Given the description of an element on the screen output the (x, y) to click on. 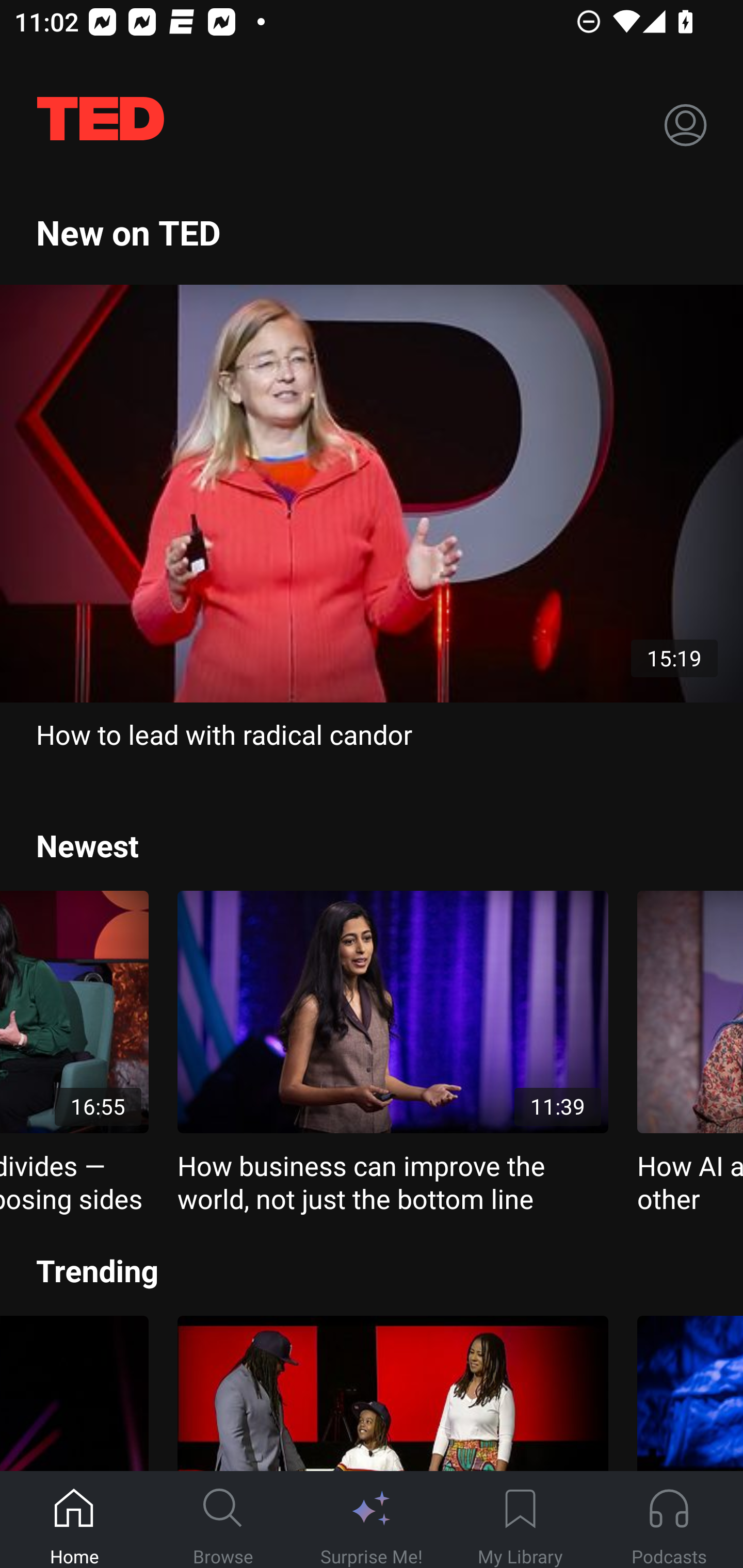
Home (74, 1520)
Browse (222, 1520)
Surprise Me! (371, 1520)
My Library (519, 1520)
Podcasts (668, 1520)
